Given the description of an element on the screen output the (x, y) to click on. 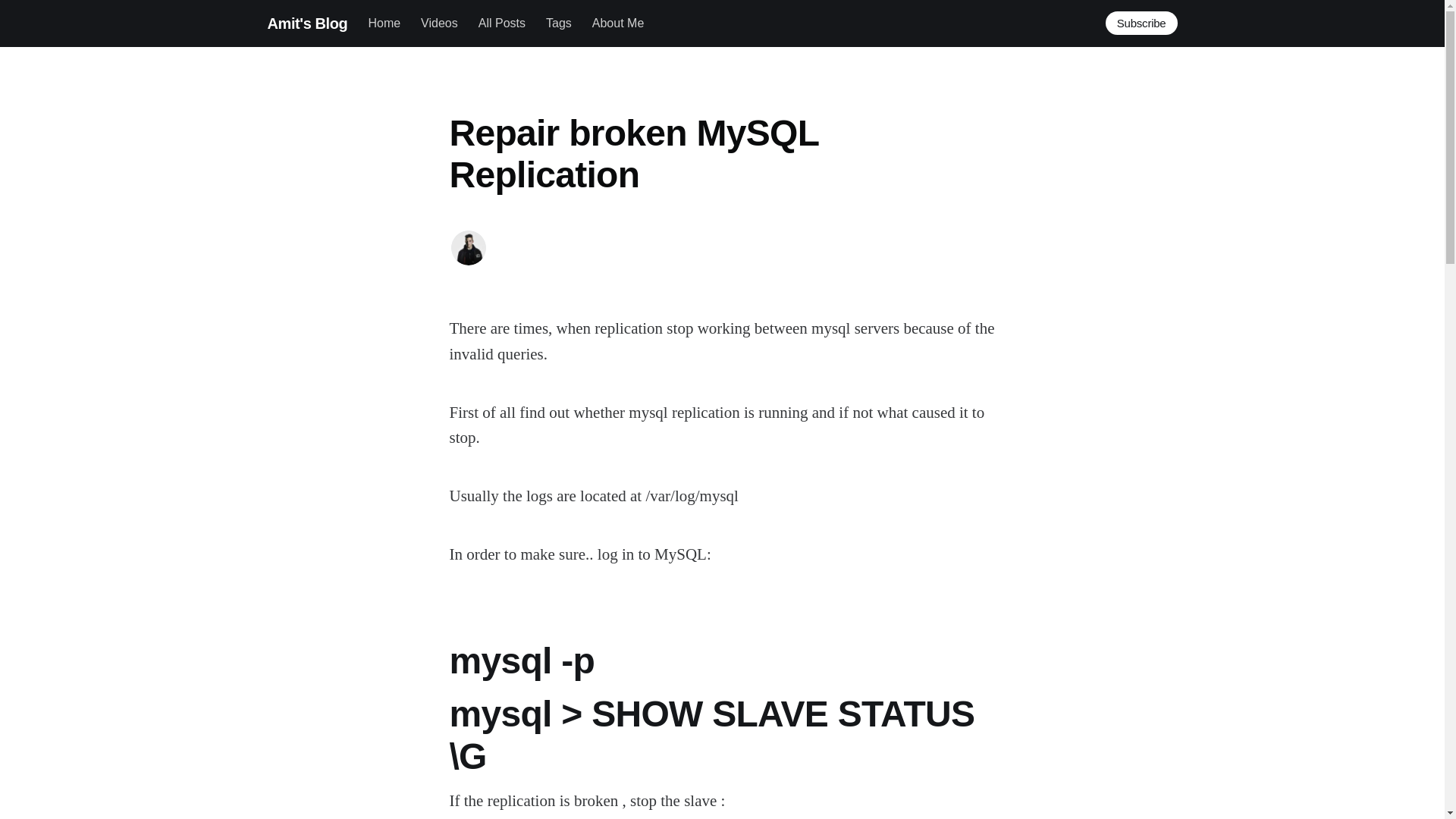
Subscribe (1141, 23)
Videos (439, 22)
All Posts (502, 22)
Tags (559, 22)
Amit's Blog (306, 23)
Home (384, 22)
About Me (617, 22)
